Given the description of an element on the screen output the (x, y) to click on. 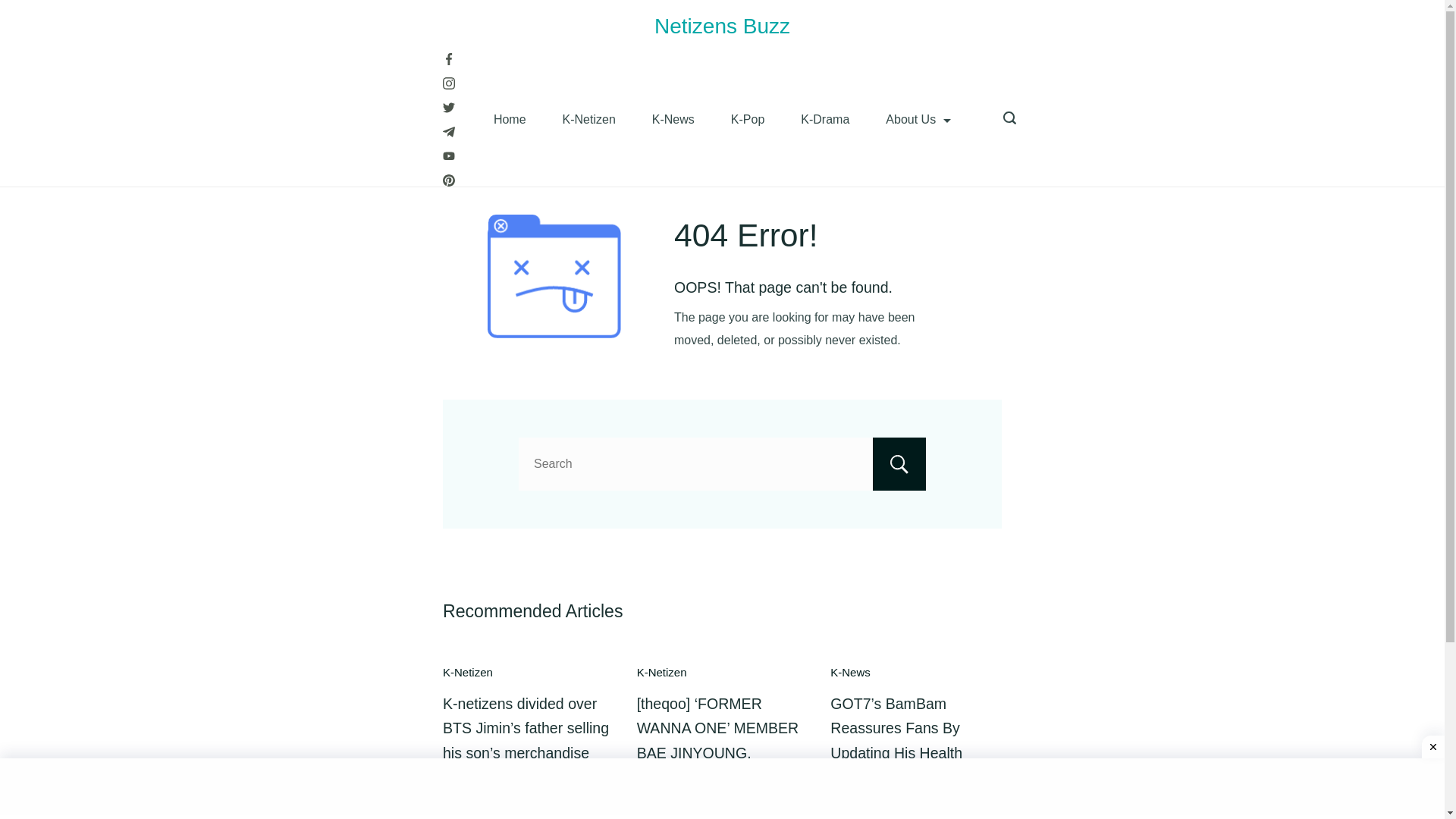
About Us (918, 119)
K-Netizen (588, 119)
Advertisement (722, 788)
K-News (673, 119)
Search (899, 463)
K-Drama (825, 119)
Search Input (722, 463)
Home (510, 119)
K-Pop (748, 119)
Netizens Buzz (721, 25)
Search (899, 463)
